Given the description of an element on the screen output the (x, y) to click on. 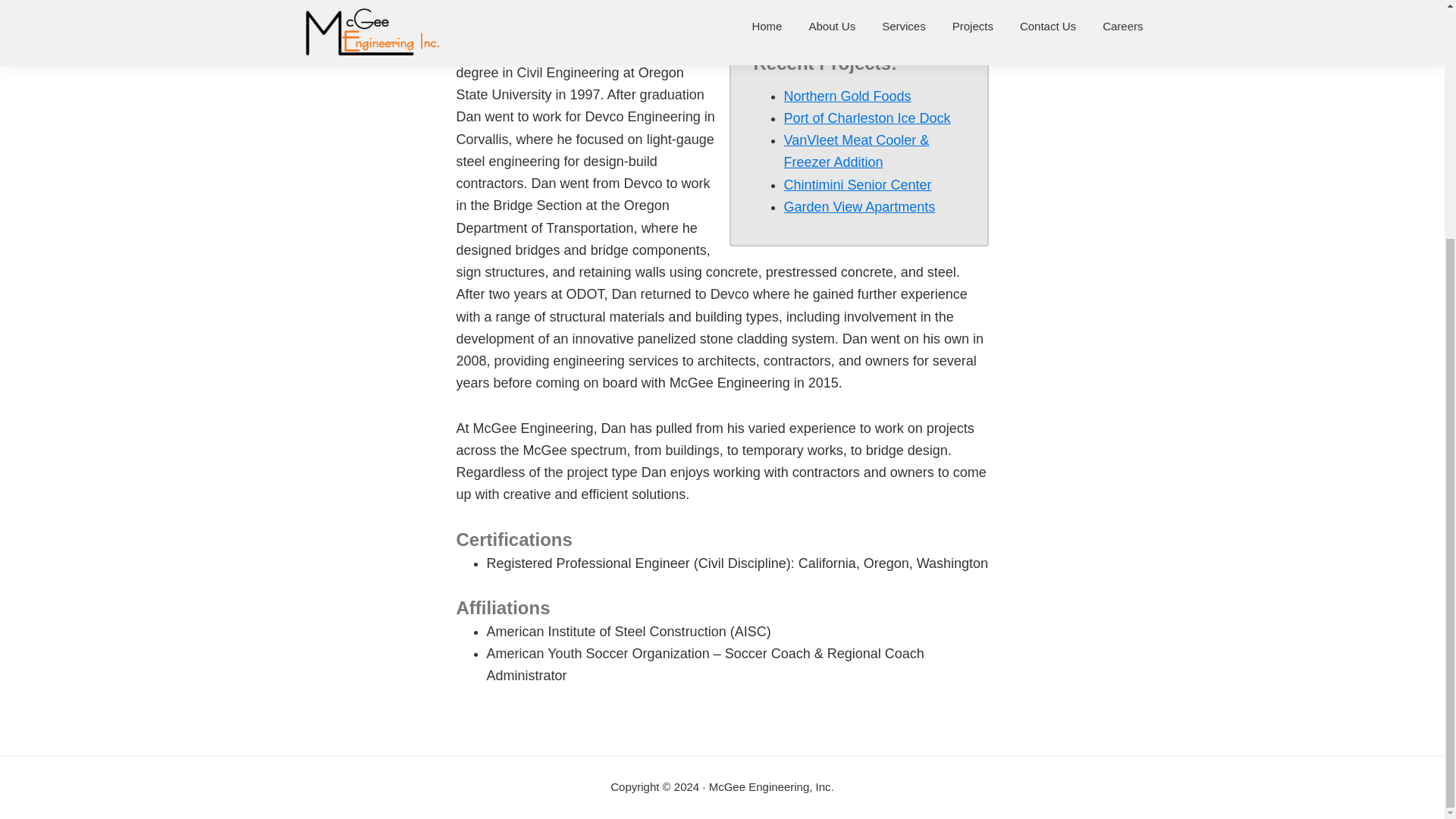
Northern Gold Foods (847, 96)
Port of Charleston Ice Dock (867, 118)
Chintimini Senior Center (857, 184)
Garden View Apartments (860, 206)
